Given the description of an element on the screen output the (x, y) to click on. 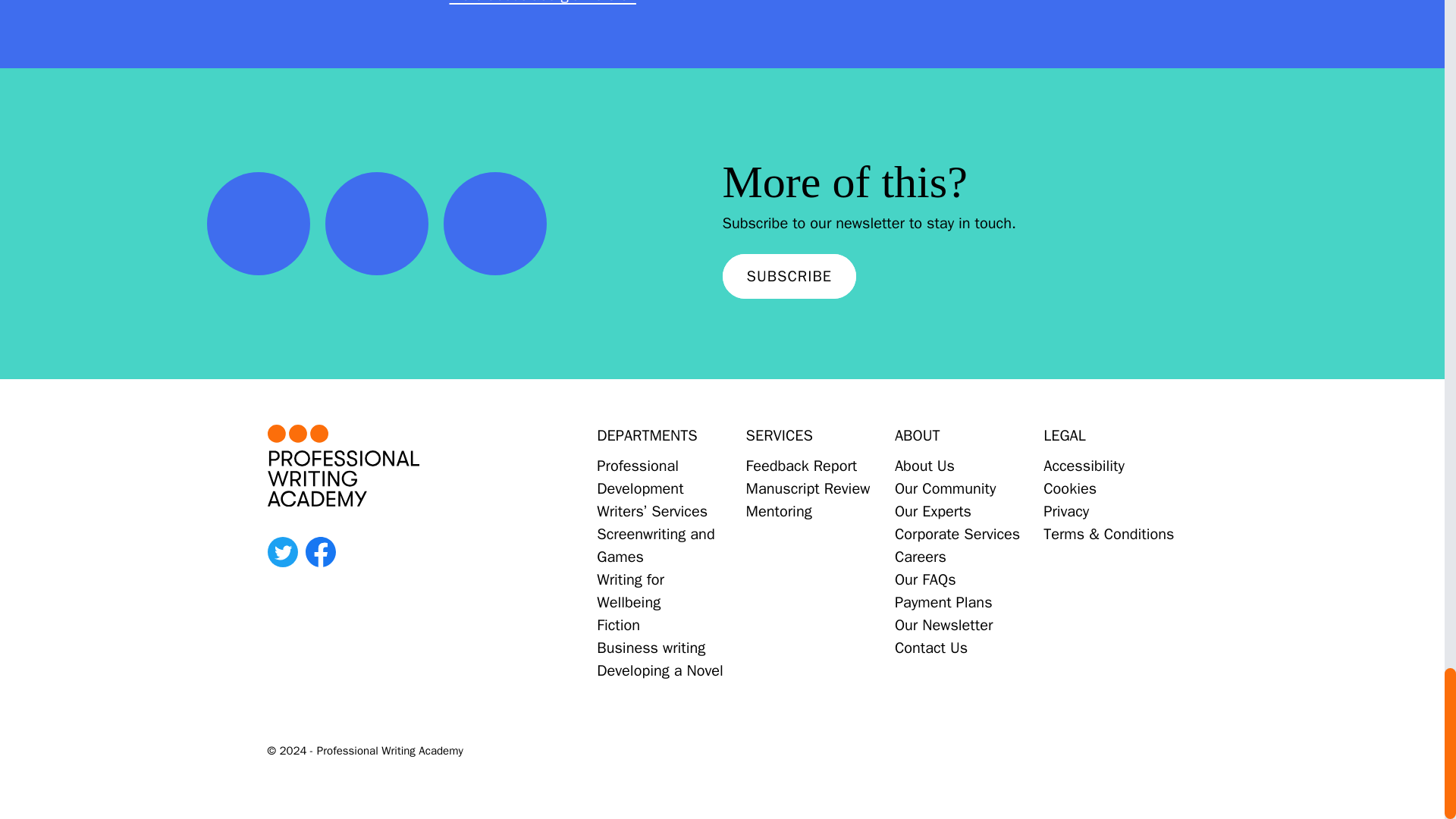
Follow us on Twitter (281, 552)
Professional Writing Academy - Setting the world to write (385, 465)
Follow us on Facebook (319, 552)
